Given the description of an element on the screen output the (x, y) to click on. 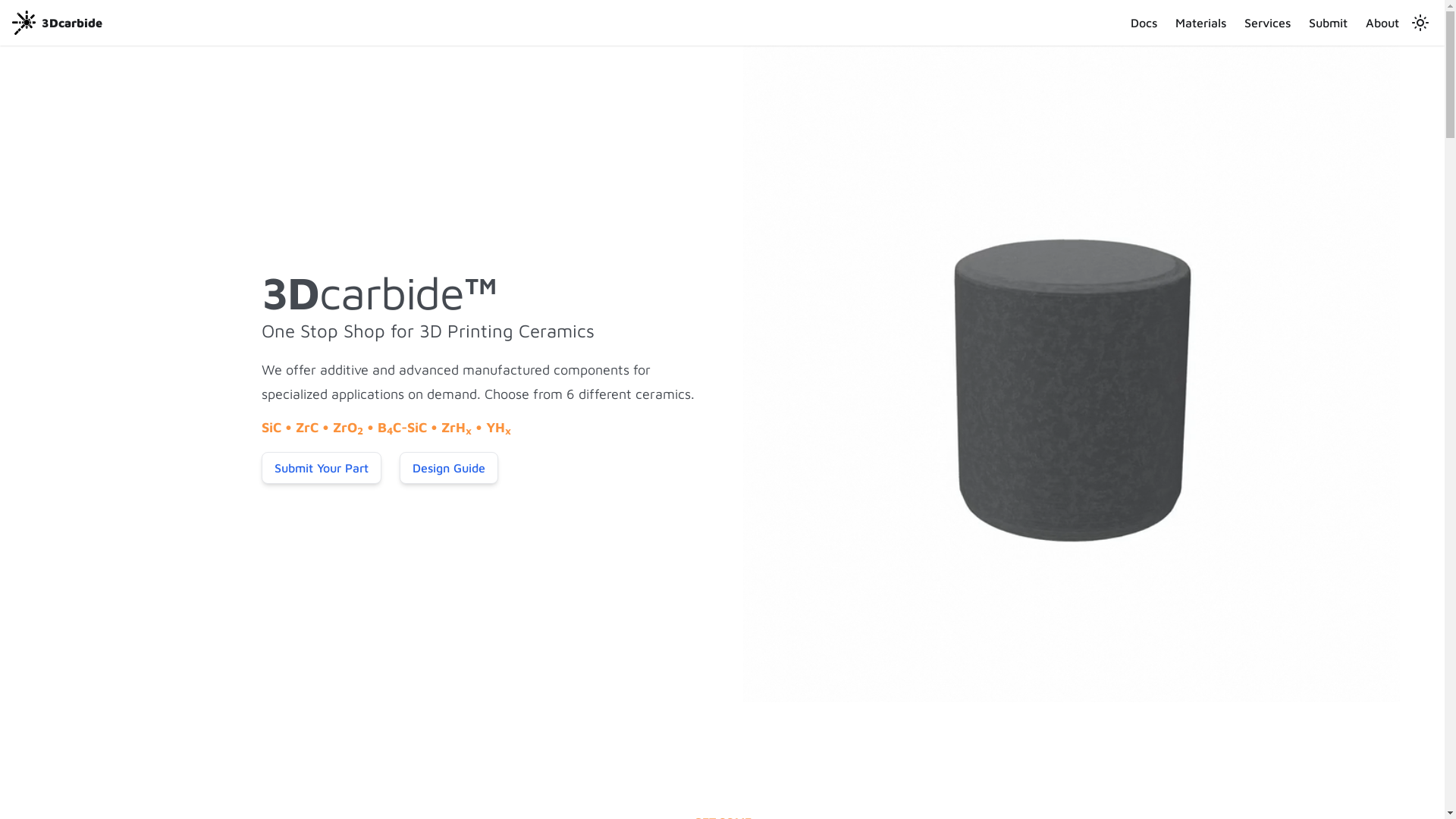
Materials Element type: text (1200, 22)
Services Element type: text (1267, 22)
Docs Element type: text (1143, 22)
About Element type: text (1382, 22)
Switch between dark and light mode (currently light mode) Element type: hover (1420, 22)
Submit Your Part Element type: text (320, 467)
Design Guide Element type: text (447, 467)
Submit Element type: text (1327, 22)
3Dcarbide Element type: text (57, 22)
